Given the description of an element on the screen output the (x, y) to click on. 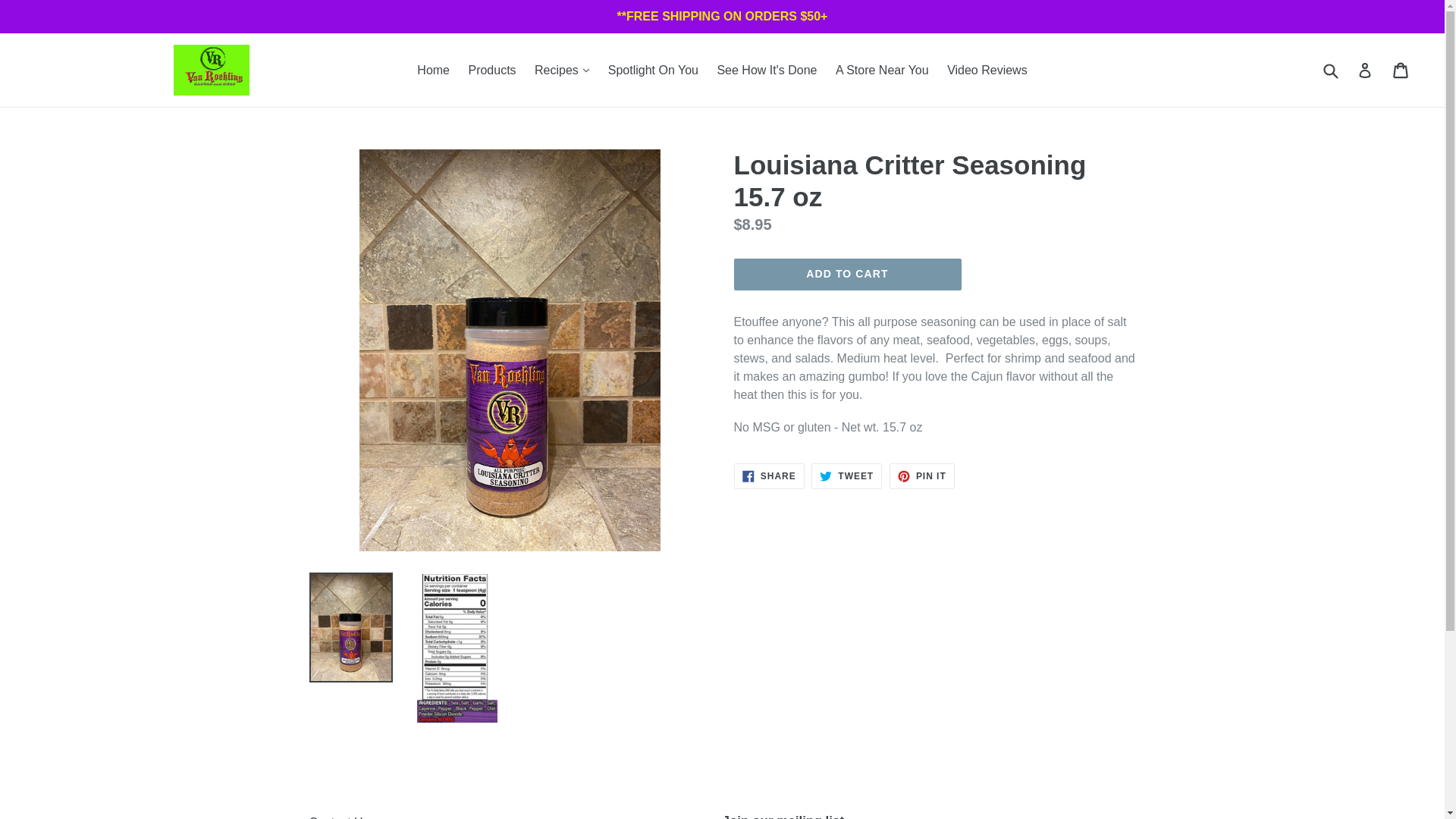
Home (433, 69)
Spotlight On You (652, 69)
Share on Facebook (769, 475)
Video Reviews (987, 69)
Pin on Pinterest (922, 475)
See How It's Done (766, 69)
Tweet on Twitter (846, 475)
Products (491, 69)
A Store Near You (882, 69)
